Given the description of an element on the screen output the (x, y) to click on. 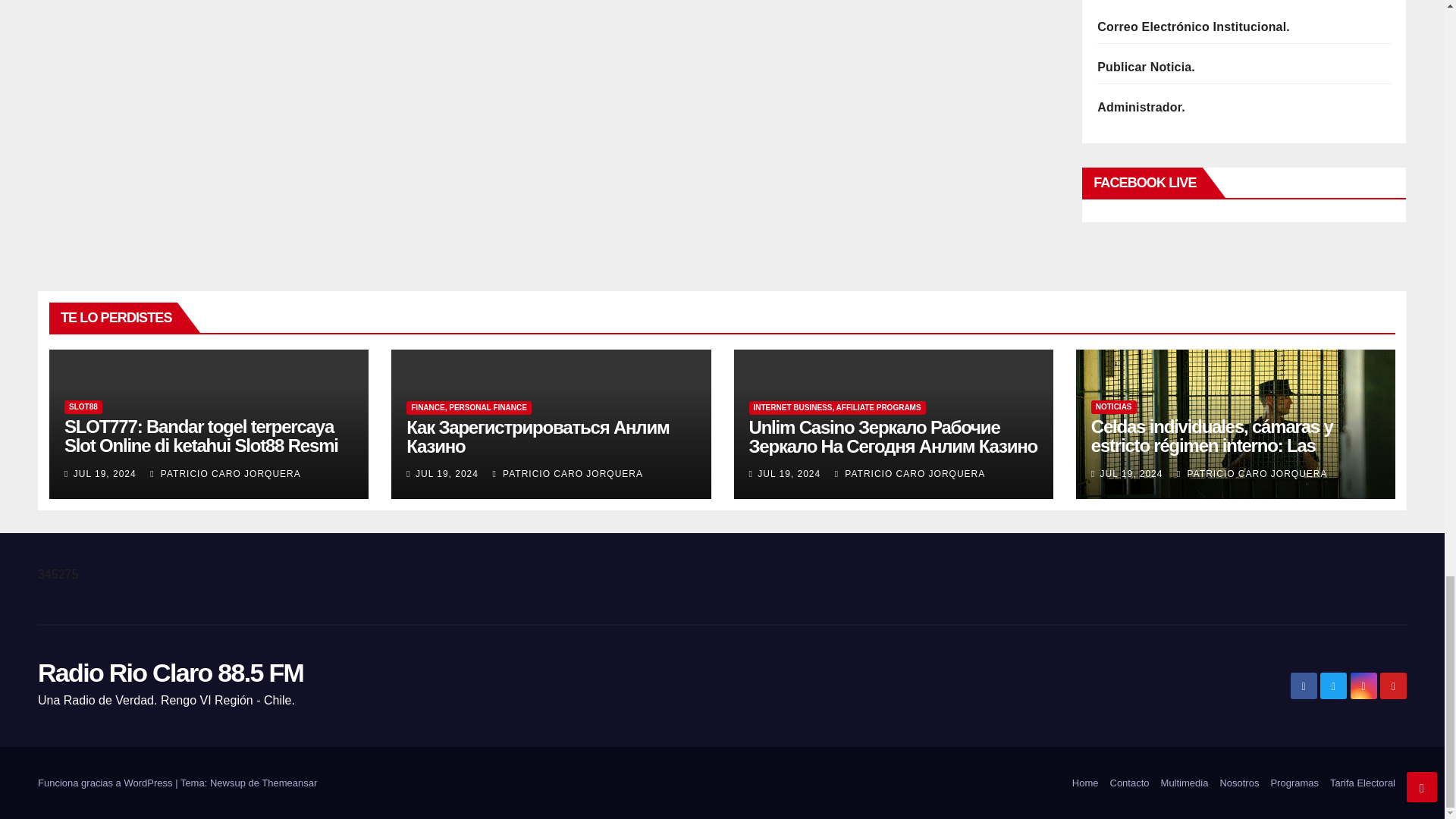
Home (1085, 782)
Administrador. (1141, 106)
Publicar Noticia. (1146, 66)
